Given the description of an element on the screen output the (x, y) to click on. 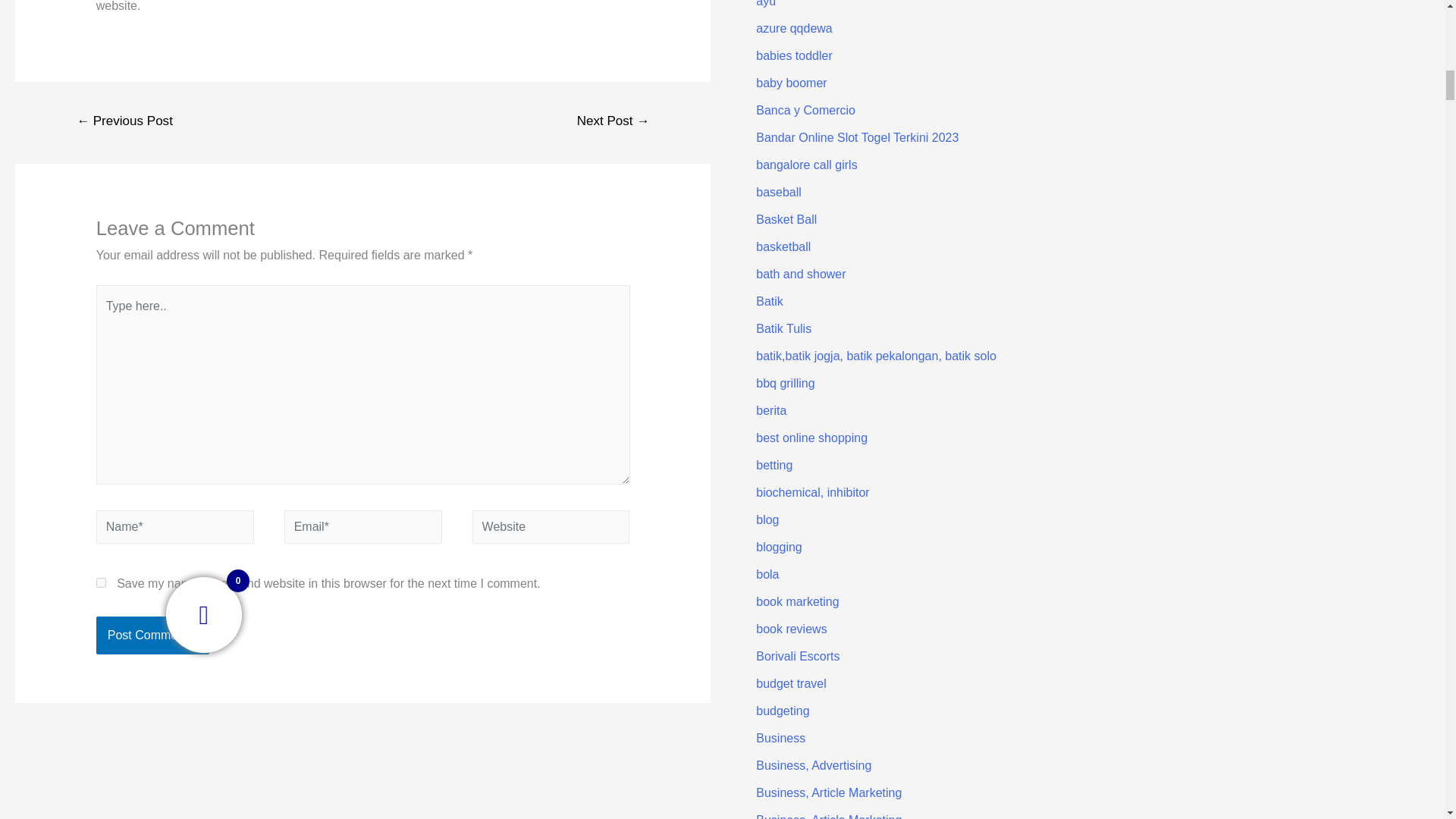
yes (101, 583)
